Given the description of an element on the screen output the (x, y) to click on. 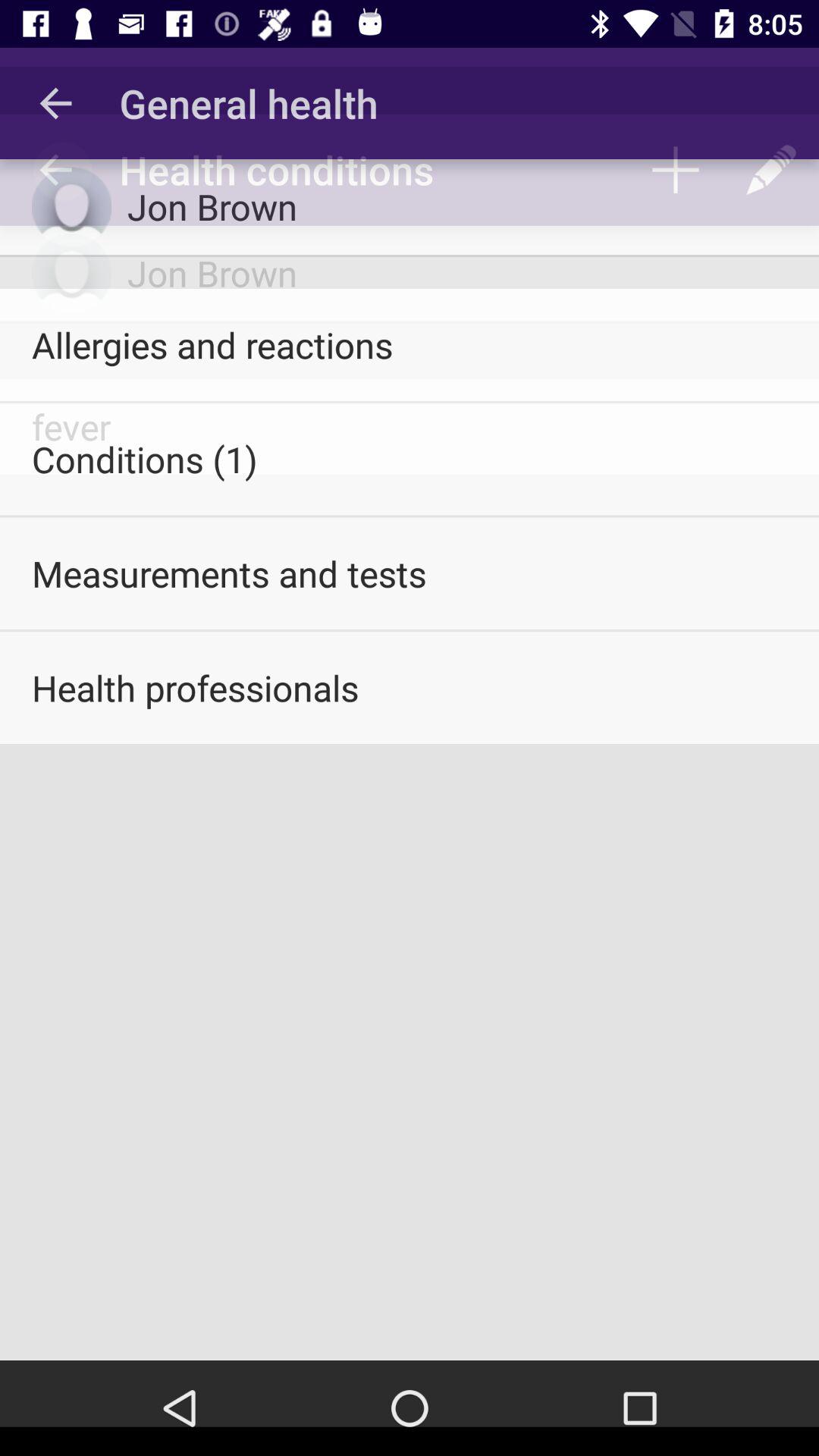
click item above health professionals  item (409, 573)
